Given the description of an element on the screen output the (x, y) to click on. 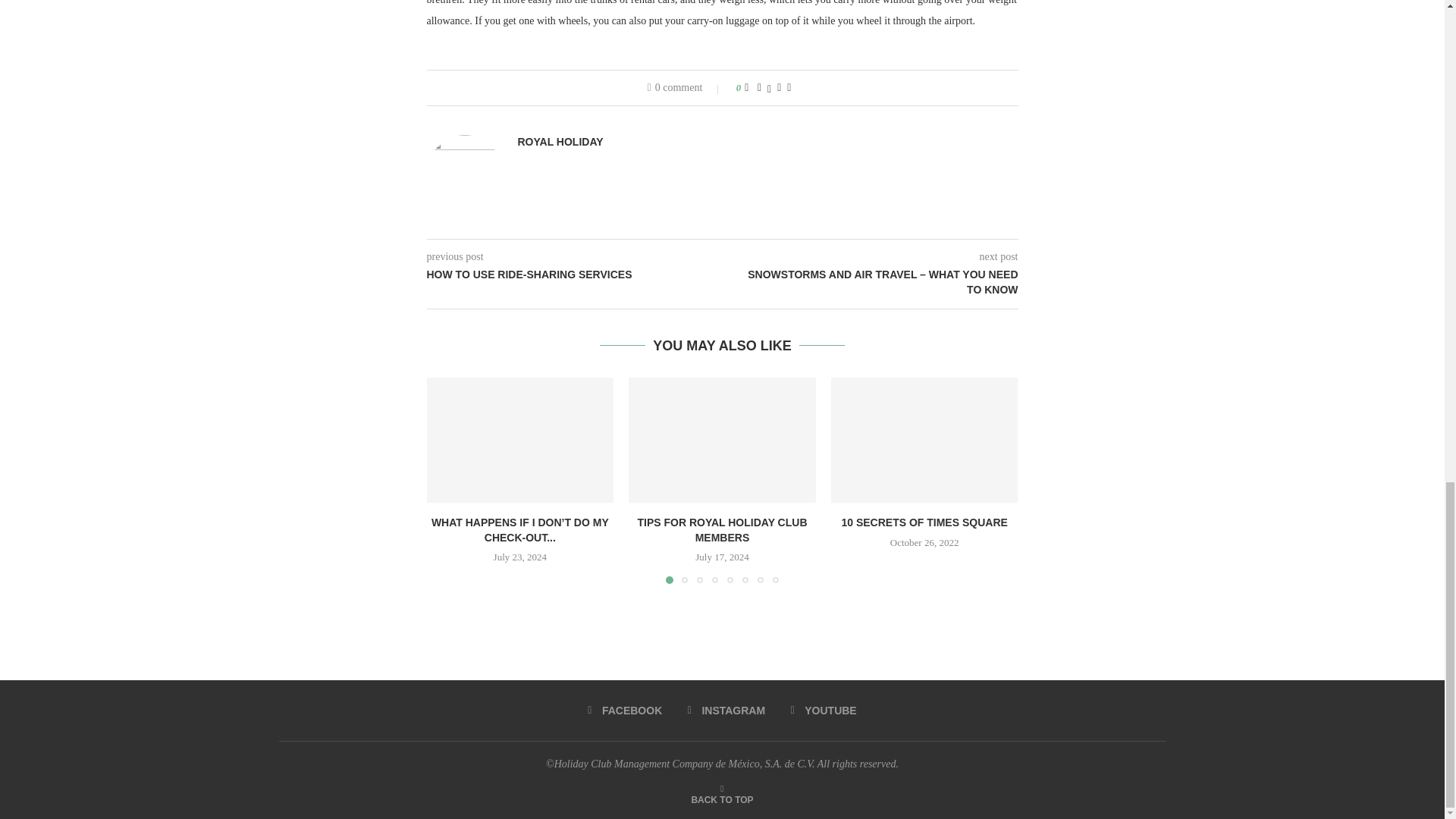
TIPS FOR ROYAL HOLIDAY CLUB MEMBERS (721, 439)
ROYAL HOLIDAY (559, 142)
Author Royal Holiday (559, 142)
10 SECRETS OF TIMES SQUARE (924, 439)
